Given the description of an element on the screen output the (x, y) to click on. 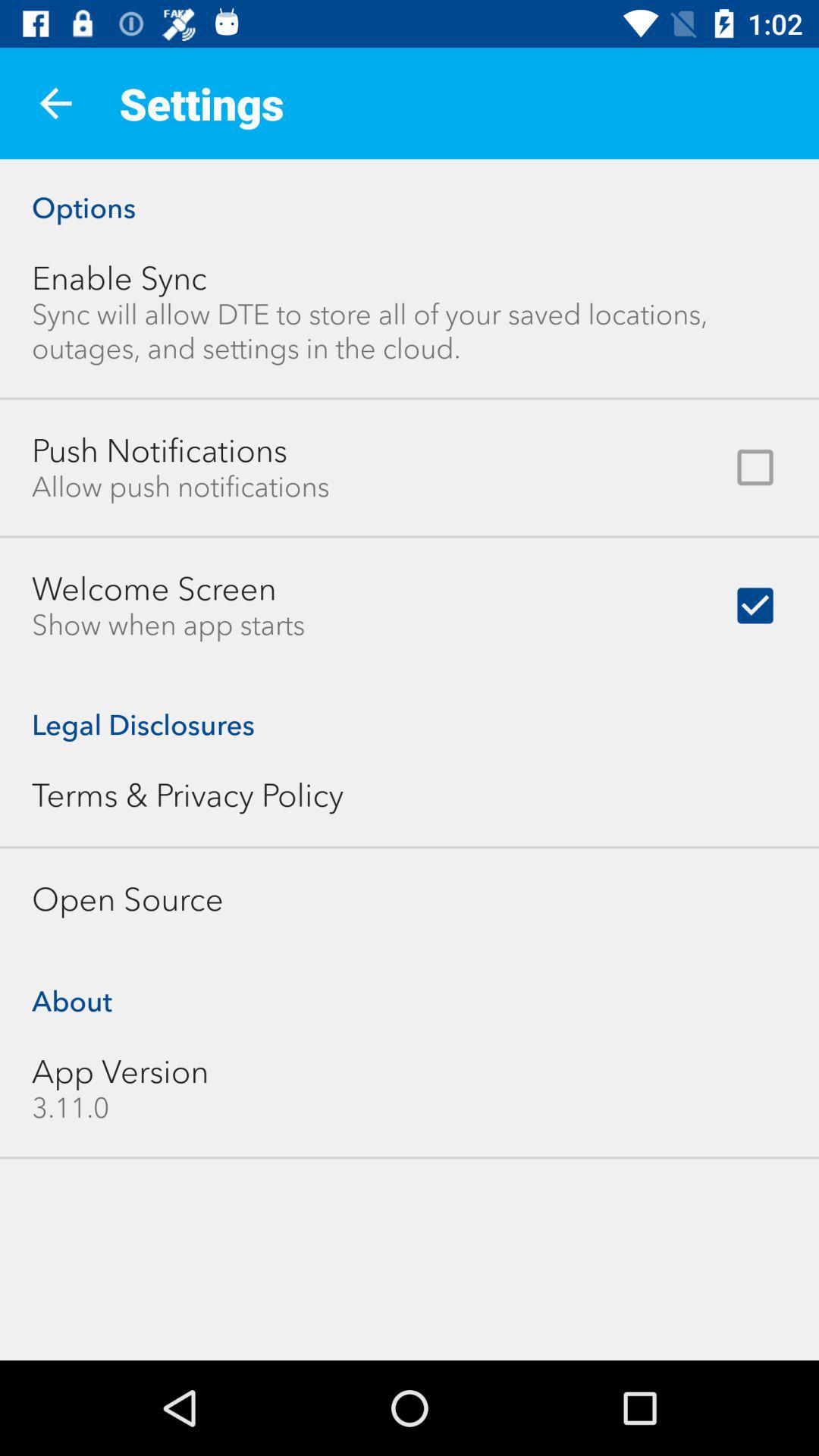
select item below the about icon (119, 1071)
